Given the description of an element on the screen output the (x, y) to click on. 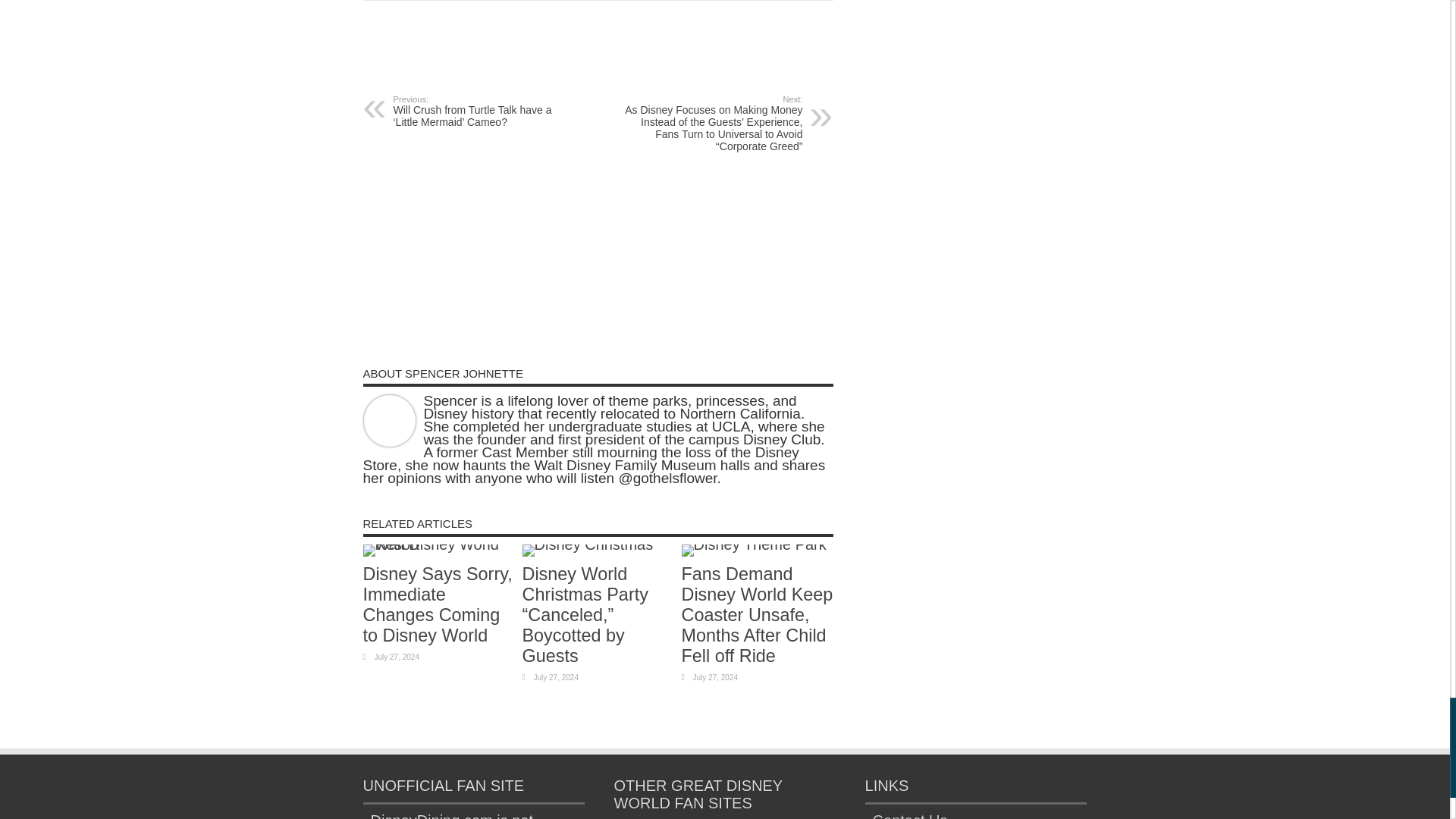
Disney Says Sorry, Immediate Changes Coming to Disney World (437, 604)
Pin It (563, 45)
